Given the description of an element on the screen output the (x, y) to click on. 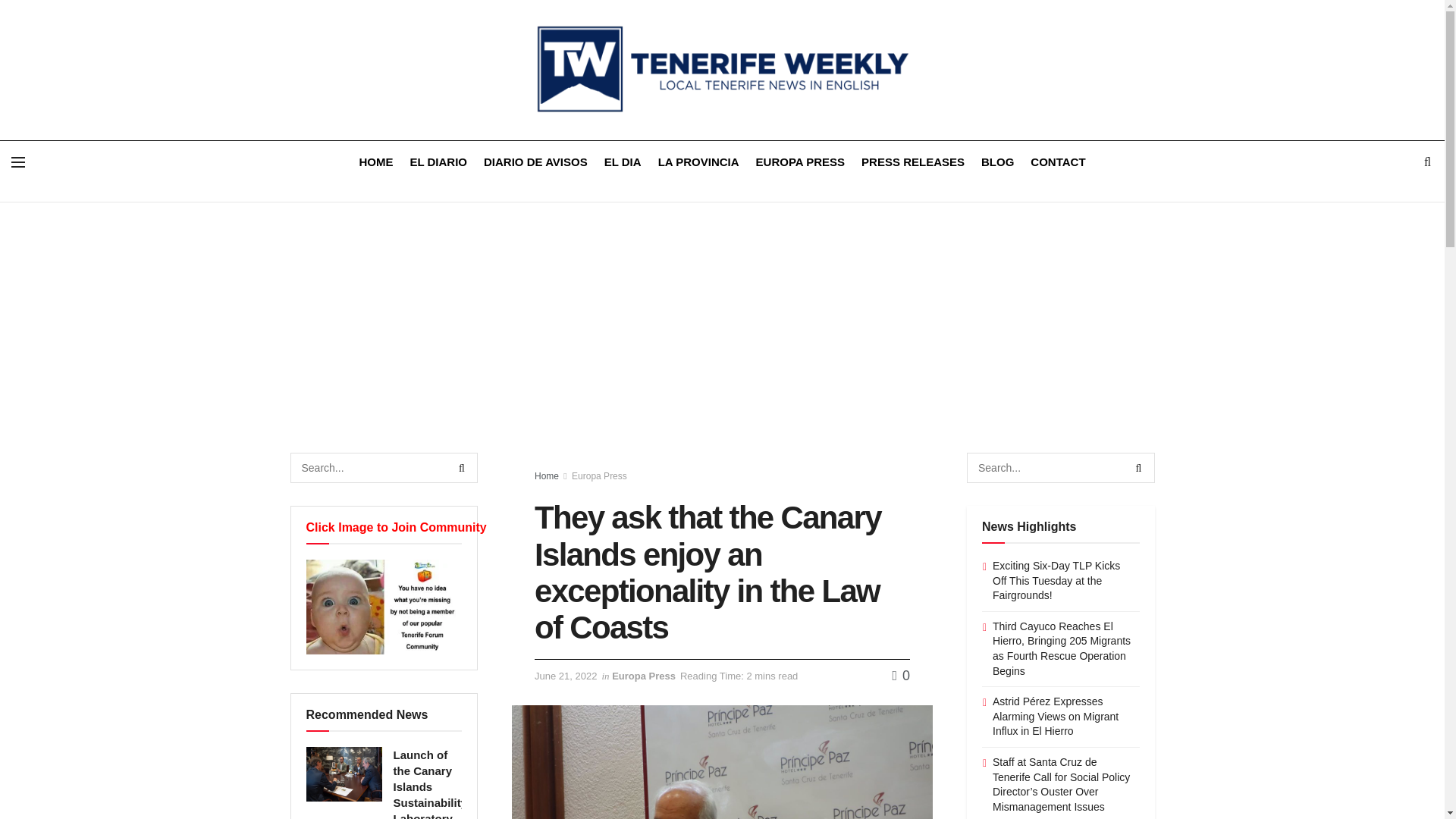
LA PROVINCIA (698, 161)
0 (900, 675)
EL DIA (623, 161)
EUROPA PRESS (800, 161)
EL DIARIO (438, 161)
PRESS RELEASES (912, 161)
BLOG (997, 161)
June 21, 2022 (565, 675)
HOME (375, 161)
